Given the description of an element on the screen output the (x, y) to click on. 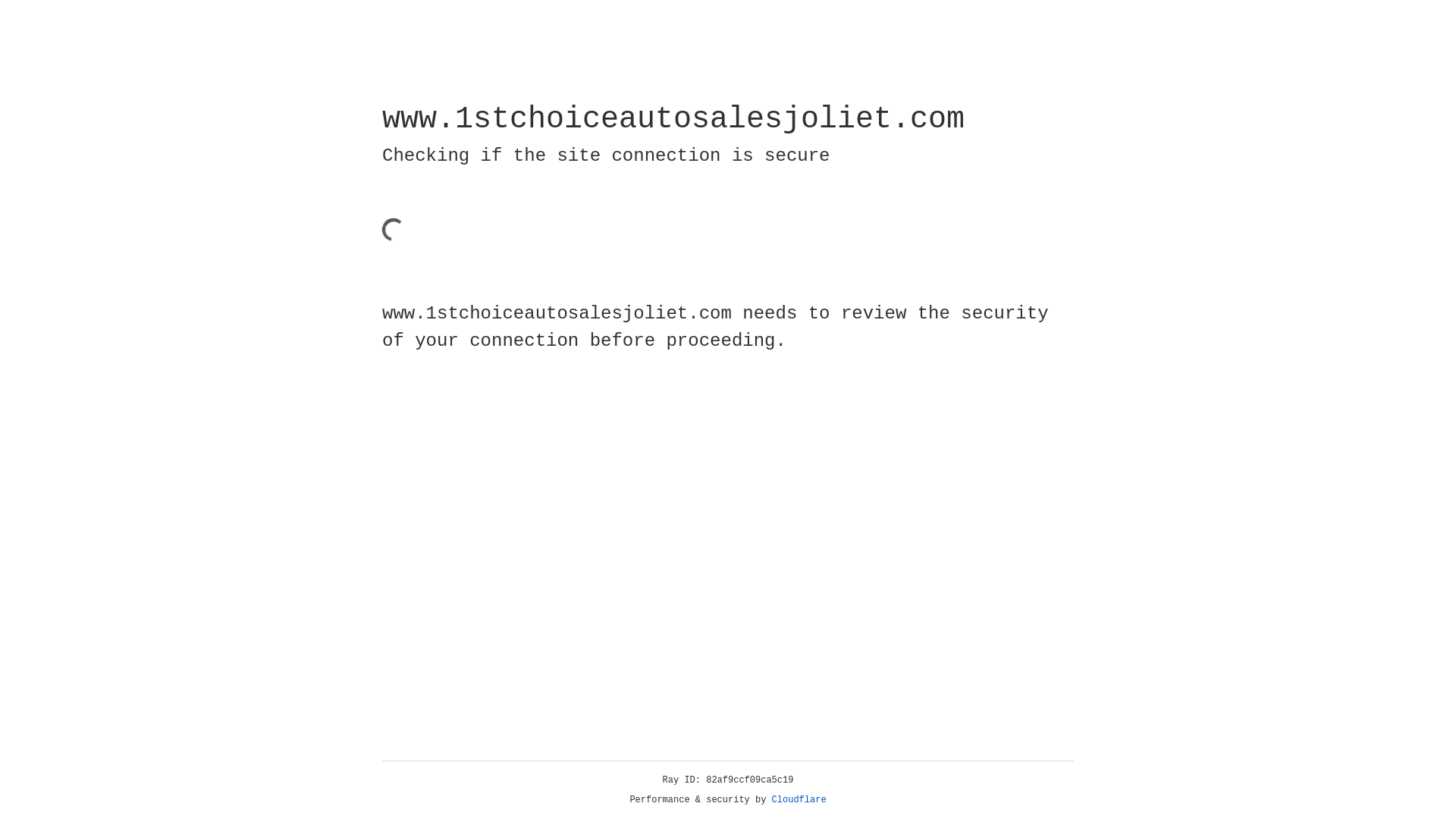
Cloudflare Element type: text (798, 799)
